Given the description of an element on the screen output the (x, y) to click on. 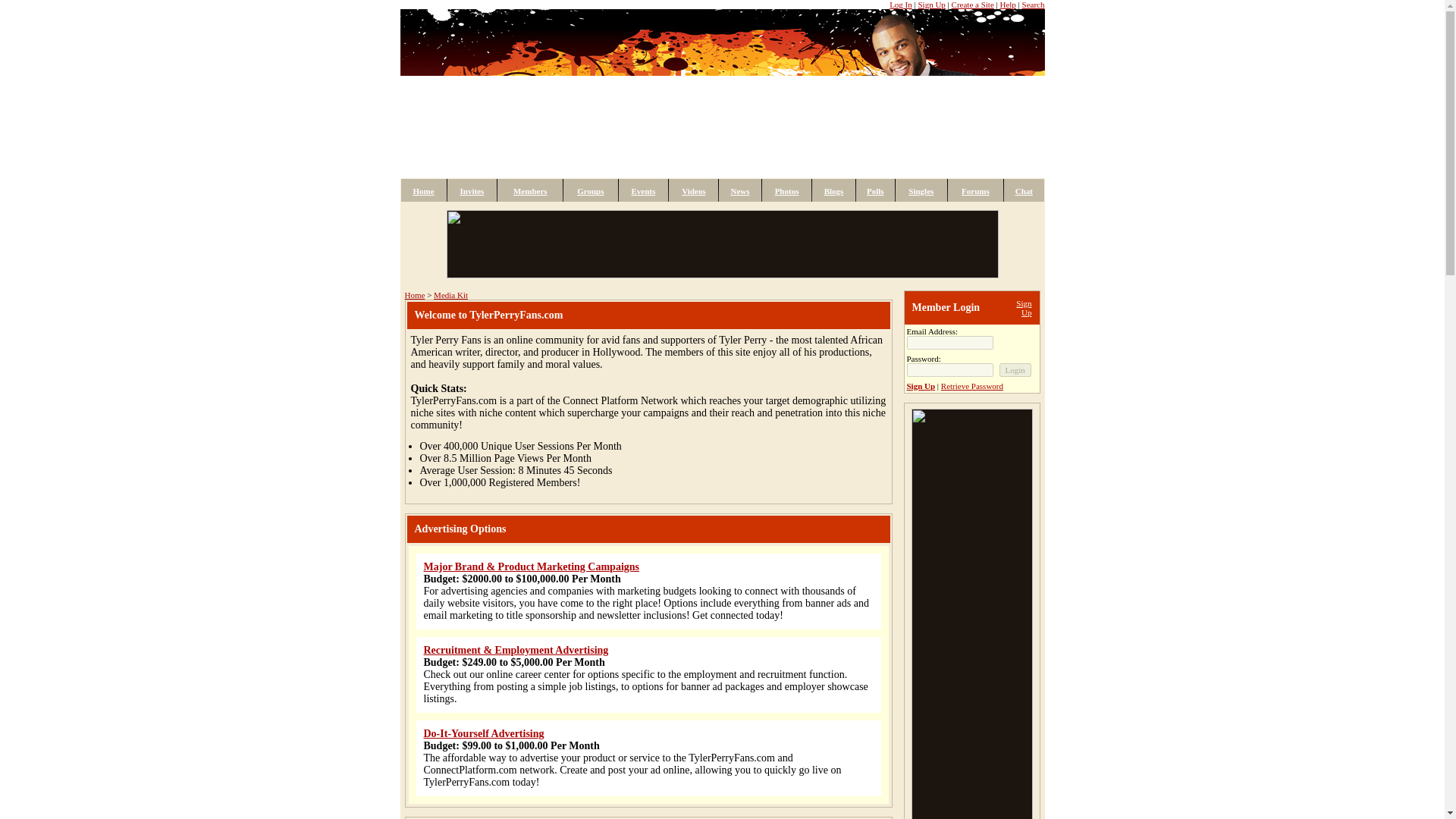
Groups (590, 190)
In the groups section you can add and join groups or clubs! (590, 190)
Forums (975, 190)
Invite your friends and colleagues to TylerPerryFans.com! (471, 190)
Help (1006, 4)
Retrieve Password (971, 385)
Log In (900, 4)
